Given the description of an element on the screen output the (x, y) to click on. 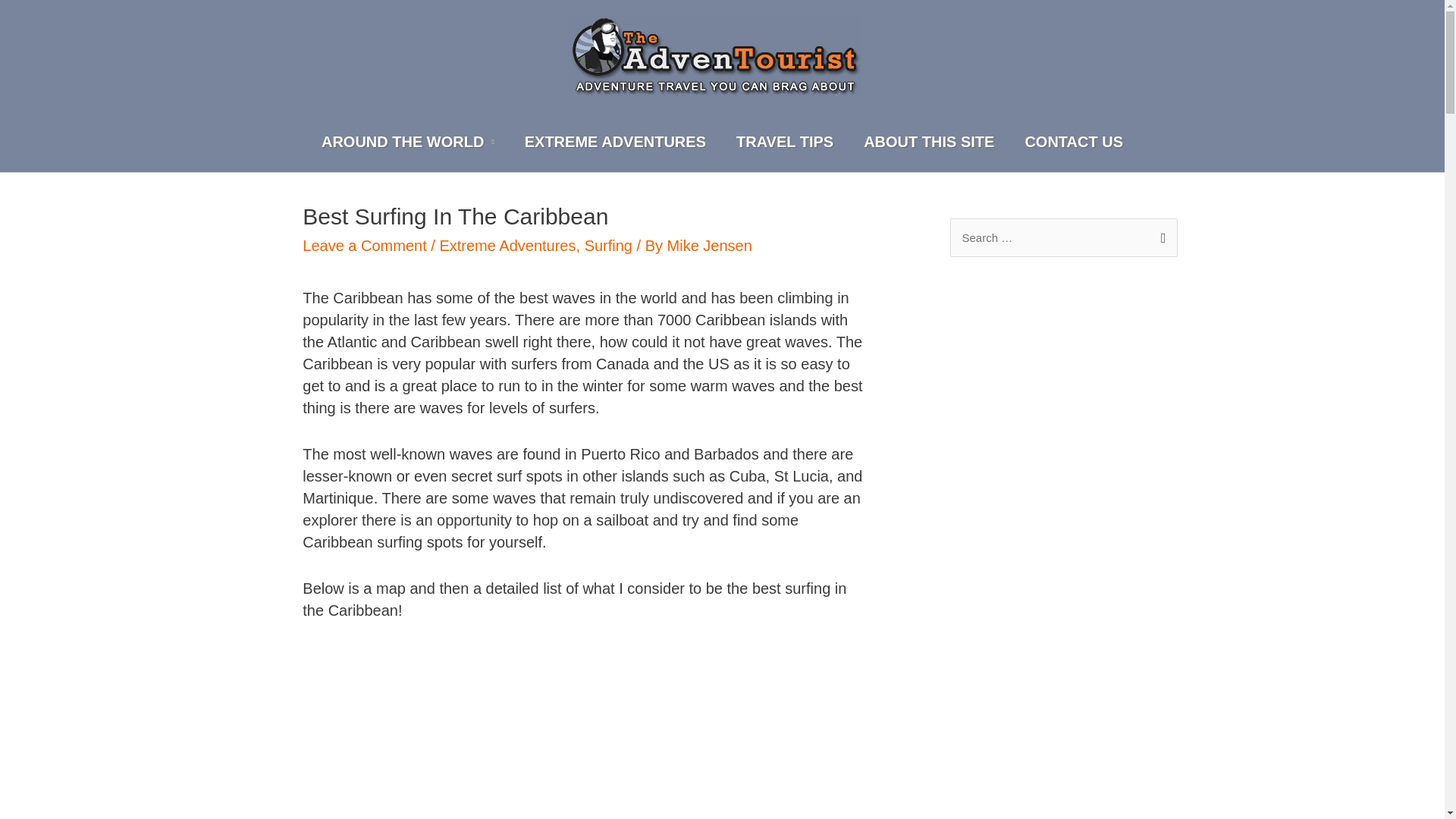
EXTREME ADVENTURES (614, 141)
AROUND THE WORLD (407, 141)
ABOUT THIS SITE (928, 141)
Extreme Adventures (614, 141)
Surfing (608, 245)
CONTACT US (1073, 141)
Mike Jensen (709, 245)
View all posts by Mike Jensen (709, 245)
Extreme Adventures (507, 245)
TRAVEL TIPS (784, 141)
Leave a Comment (364, 245)
